Given the description of an element on the screen output the (x, y) to click on. 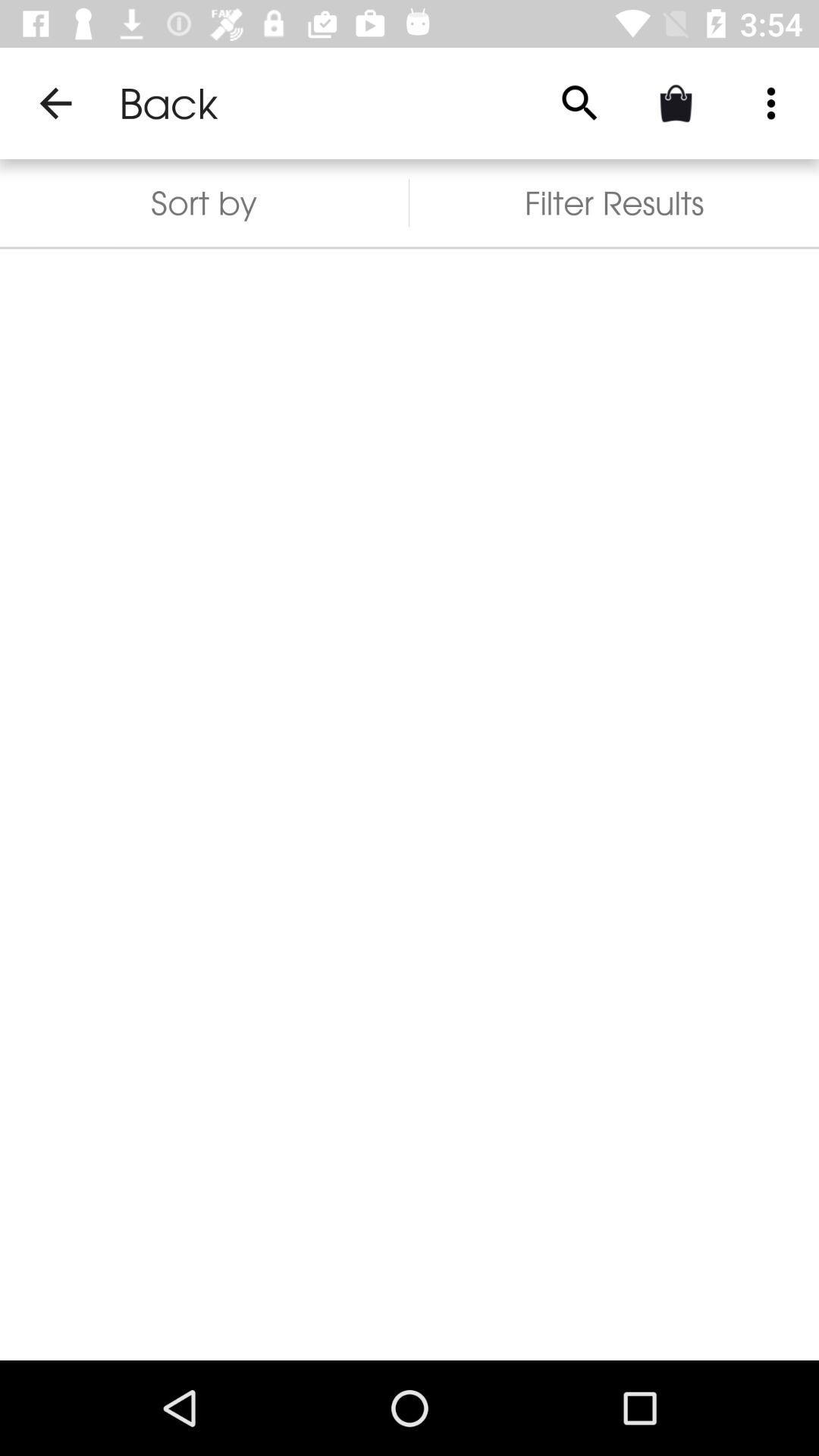
select item to the left of back item (55, 103)
